Given the description of an element on the screen output the (x, y) to click on. 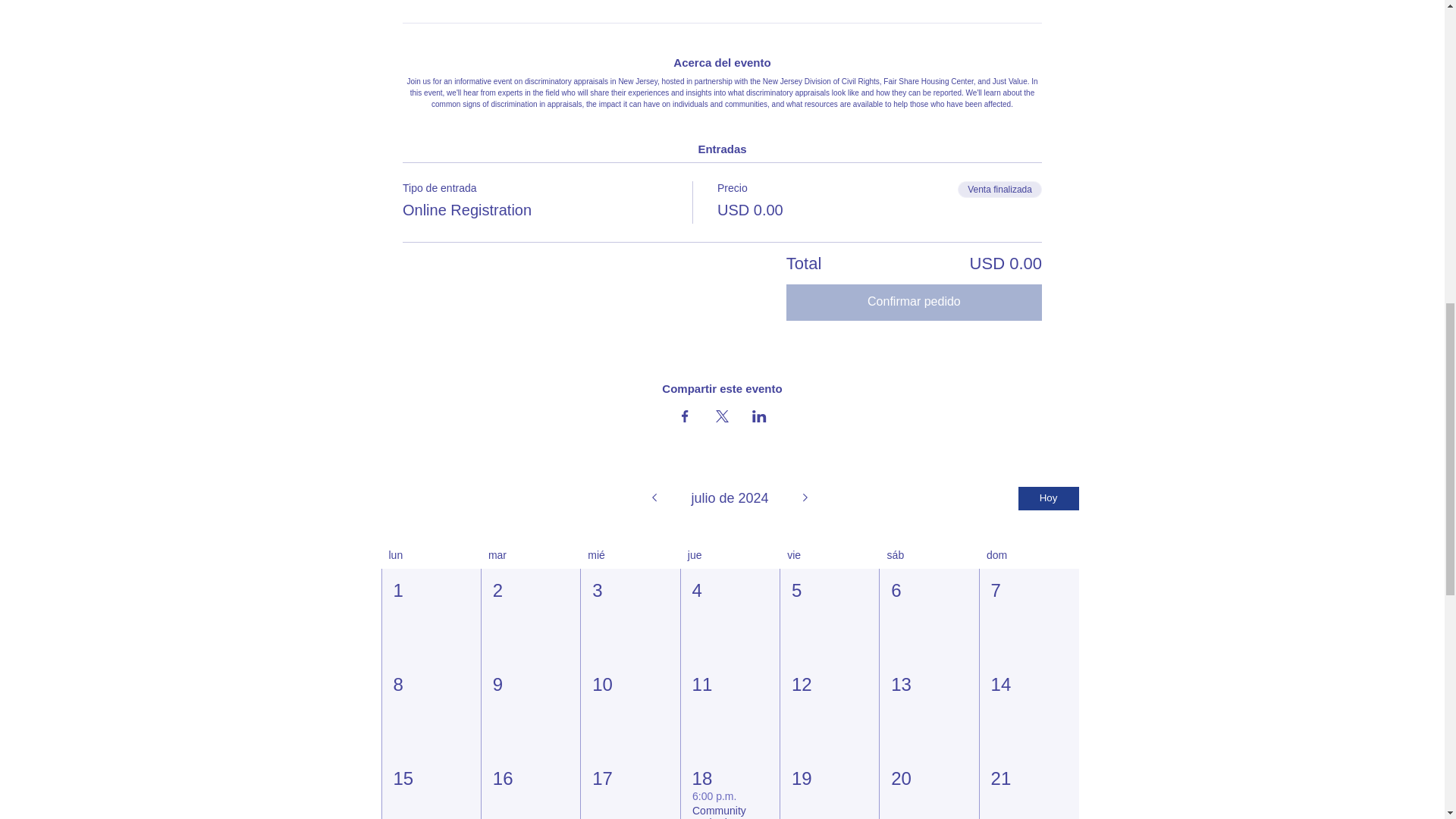
Confirmar pedido (914, 302)
Hoy (1047, 498)
